Given the description of an element on the screen output the (x, y) to click on. 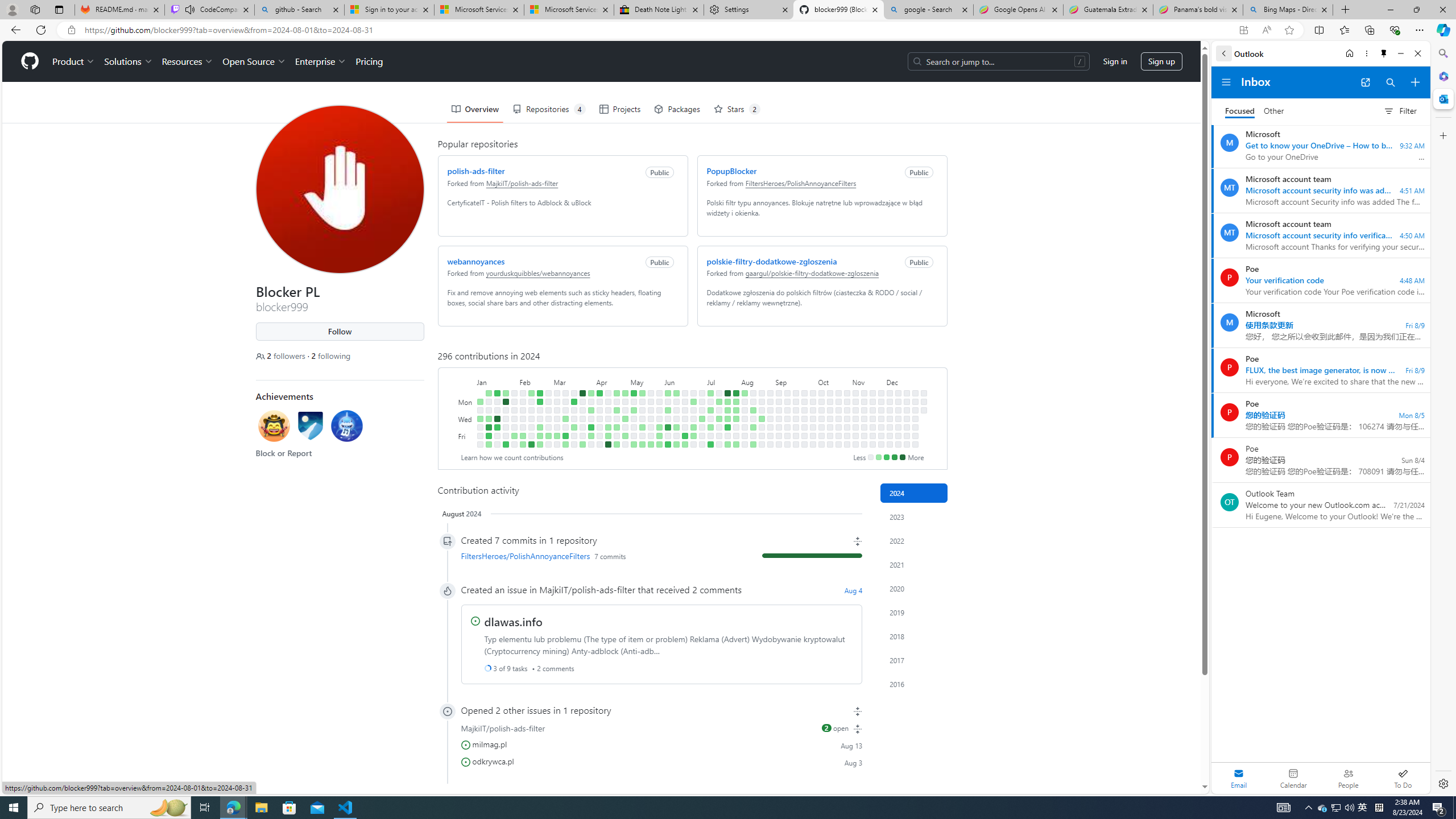
Tuesday (465, 410)
No contributions on May 8th. (633, 418)
webannoyances (475, 260)
No contributions on January 15th. (496, 401)
3 contributions on January 10th. (488, 418)
Compose new mail (1414, 82)
No contributions on March 26th. (582, 410)
No contributions on November 27th. (880, 418)
2 contributions on June 4th. (667, 410)
4 contributions on January 27th. (505, 444)
No contributions on July 5th. (701, 435)
August (757, 380)
milmag.plThis contribution was made on Aug 13 (661, 743)
